Given the description of an element on the screen output the (x, y) to click on. 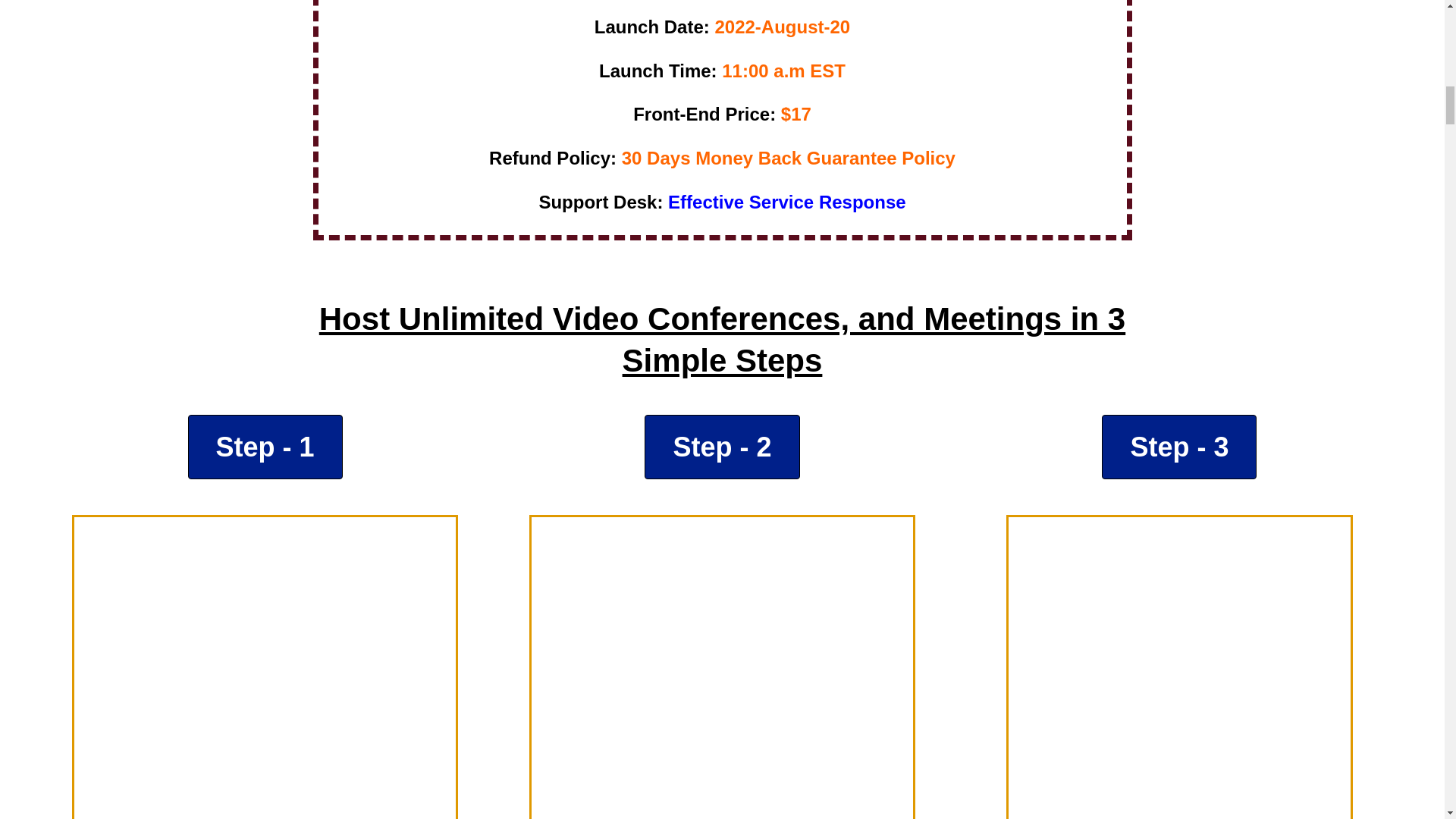
Step - 2 (722, 446)
Step - 3 (1179, 446)
Step - 1 (264, 446)
